Given the description of an element on the screen output the (x, y) to click on. 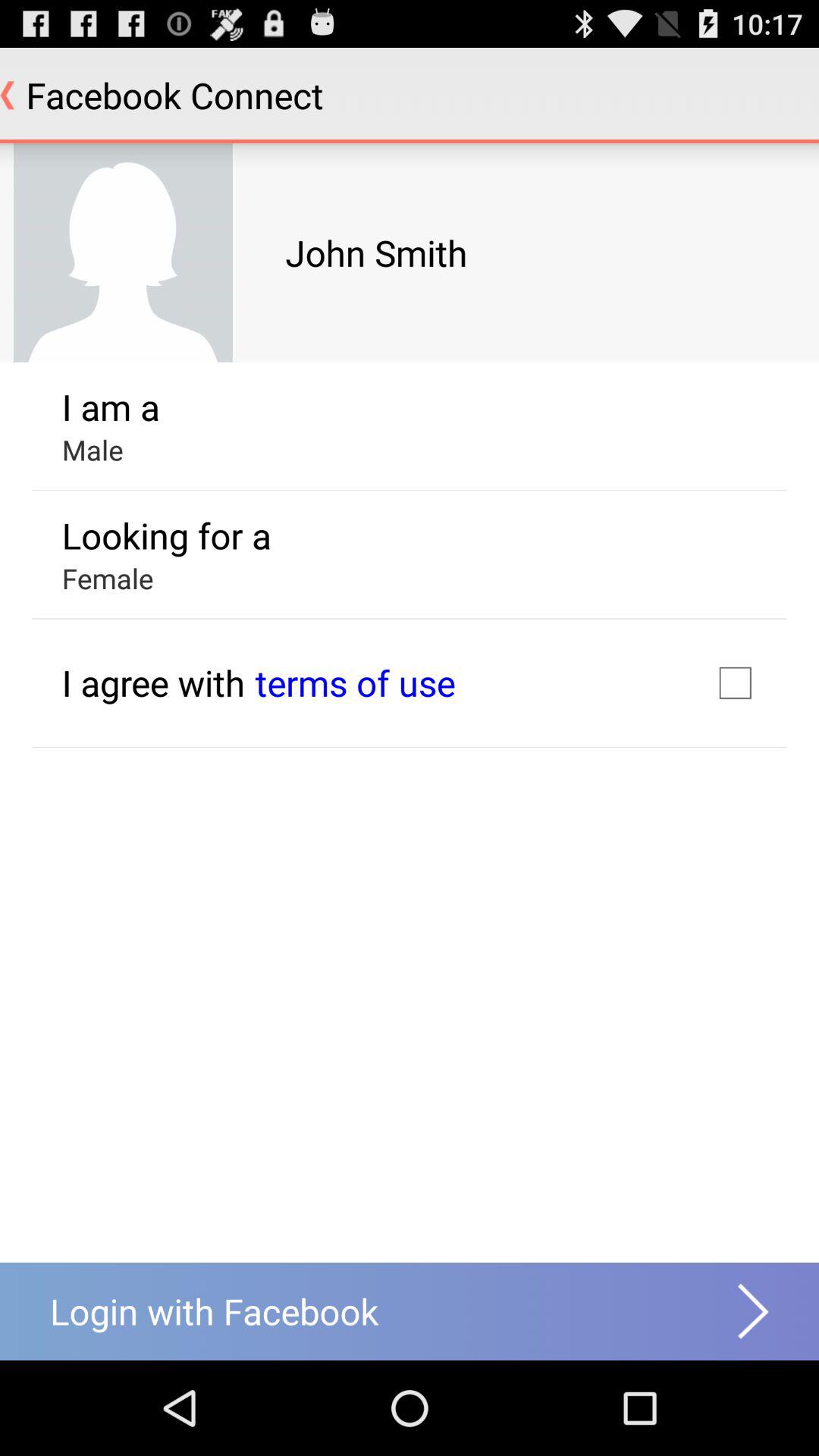
select item below male icon (166, 535)
